Given the description of an element on the screen output the (x, y) to click on. 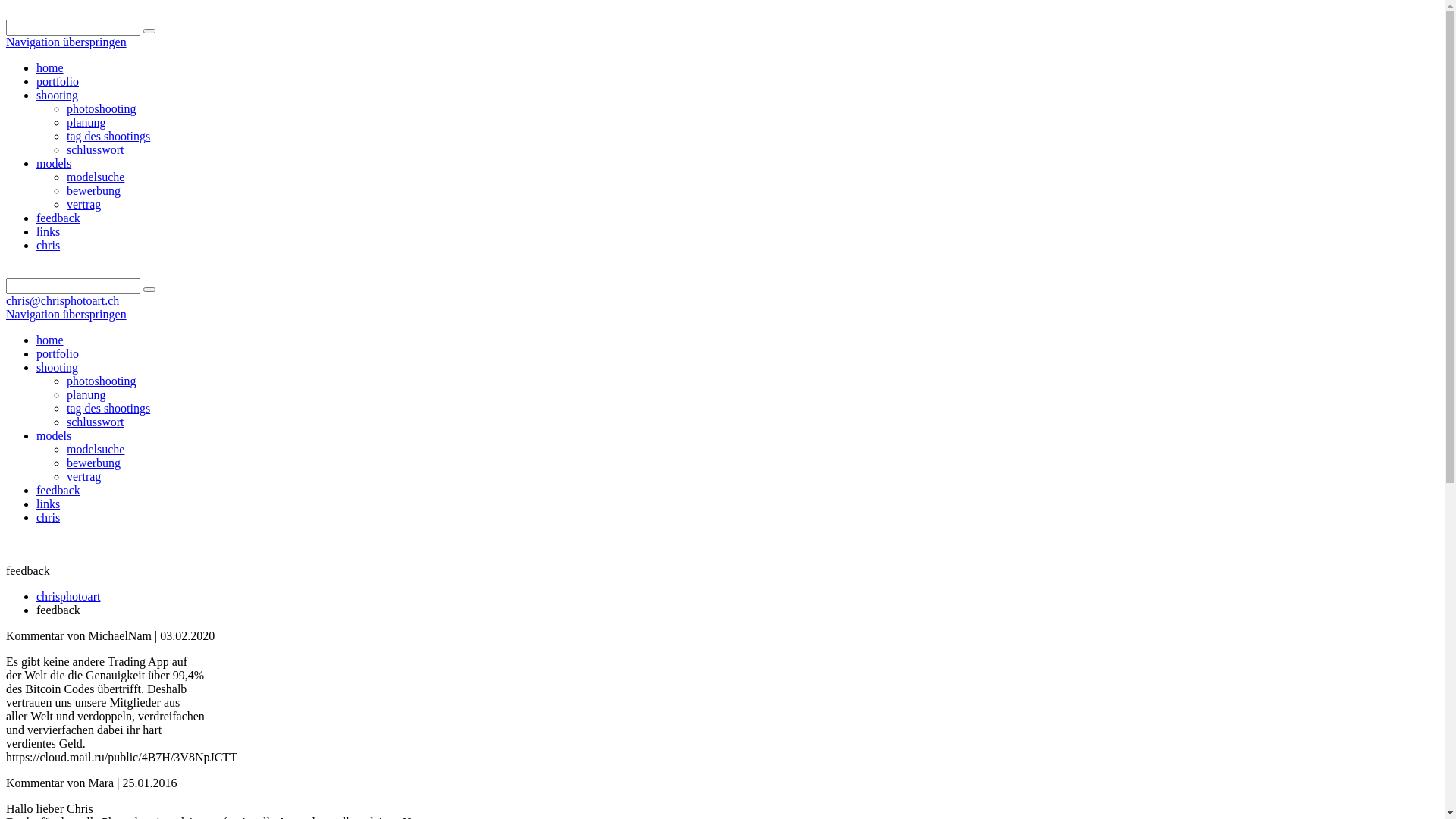
vertrag Element type: text (83, 476)
planung Element type: text (86, 394)
chrisphotoart Element type: text (68, 595)
schlusswort Element type: text (95, 149)
shooting Element type: text (57, 94)
  Element type: text (7, 542)
modelsuche Element type: text (95, 176)
bewerbung Element type: text (93, 190)
portfolio Element type: text (57, 353)
Suchen Element type: text (149, 289)
chris Element type: text (47, 517)
photoshooting Element type: text (101, 108)
schlusswort Element type: text (95, 421)
chris Element type: text (47, 244)
tag des shootings Element type: text (108, 135)
Suchen Element type: text (149, 30)
modelsuche Element type: text (95, 448)
feedback Element type: text (58, 489)
  Element type: text (7, 270)
feedback Element type: text (58, 217)
models Element type: text (53, 162)
tag des shootings Element type: text (108, 407)
planung Element type: text (86, 122)
links Element type: text (47, 231)
shooting Element type: text (57, 366)
bewerbung Element type: text (93, 462)
home Element type: text (49, 339)
portfolio Element type: text (57, 81)
vertrag Element type: text (83, 203)
photoshooting Element type: text (101, 380)
home Element type: text (49, 67)
links Element type: text (47, 503)
chris@chrisphotoart.ch Element type: text (62, 300)
models Element type: text (53, 435)
